Given the description of an element on the screen output the (x, y) to click on. 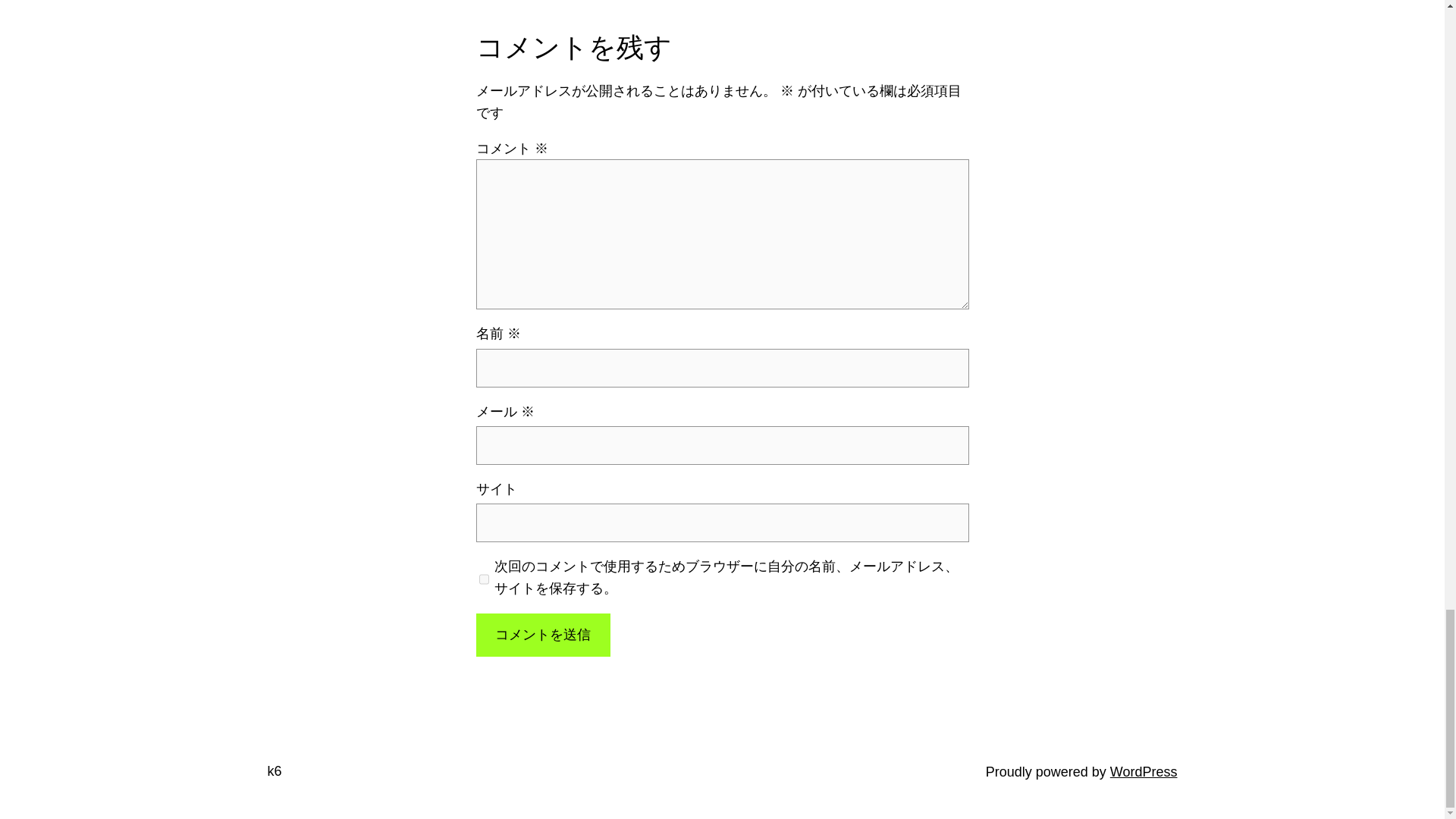
WordPress (1143, 771)
k6 (273, 770)
